Given the description of an element on the screen output the (x, y) to click on. 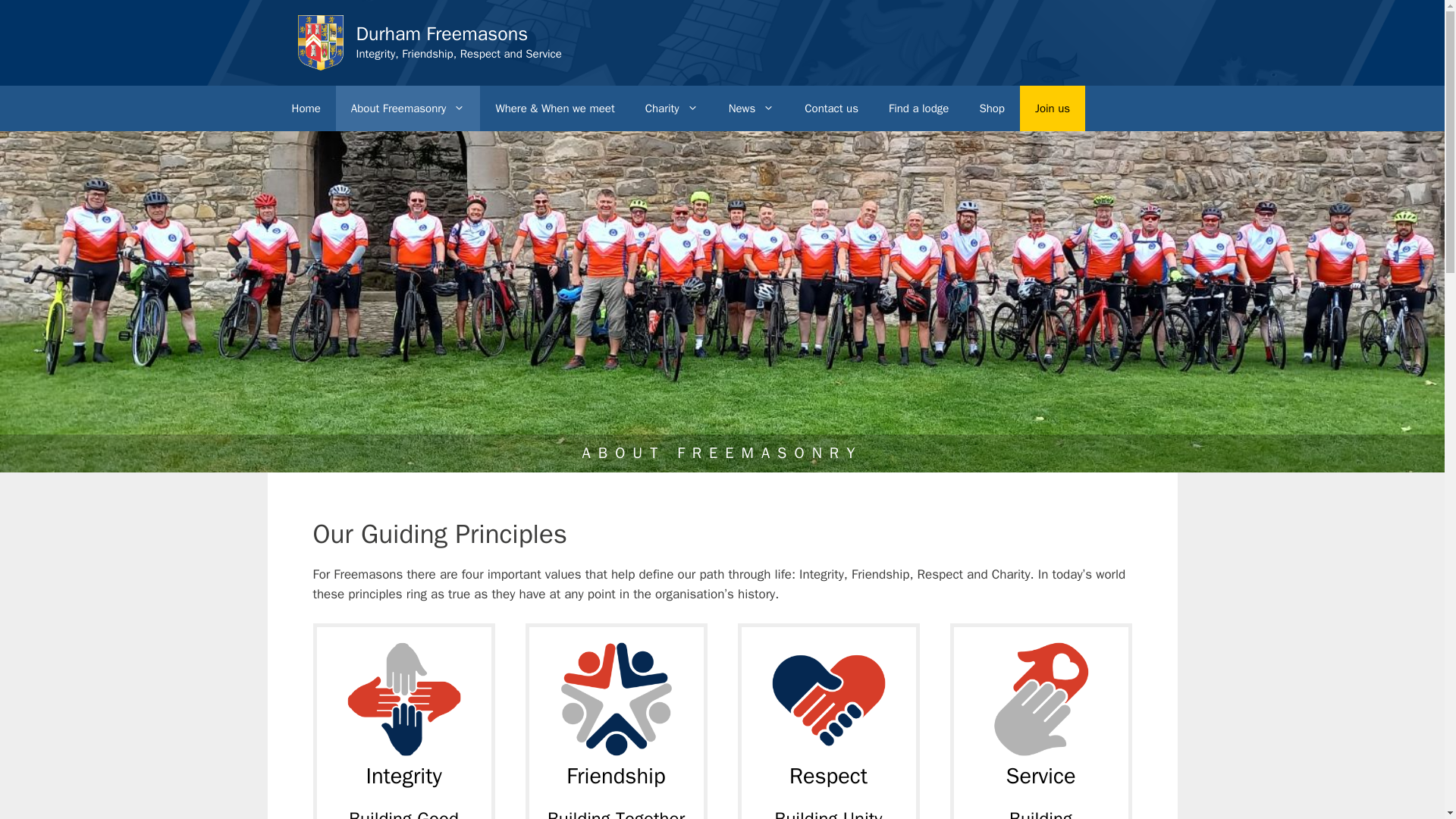
integrity (404, 698)
charity (1040, 698)
respect (828, 698)
Durham Freemasons (442, 33)
About Freemasonry (408, 108)
Home (305, 108)
friendship (615, 698)
